Given the description of an element on the screen output the (x, y) to click on. 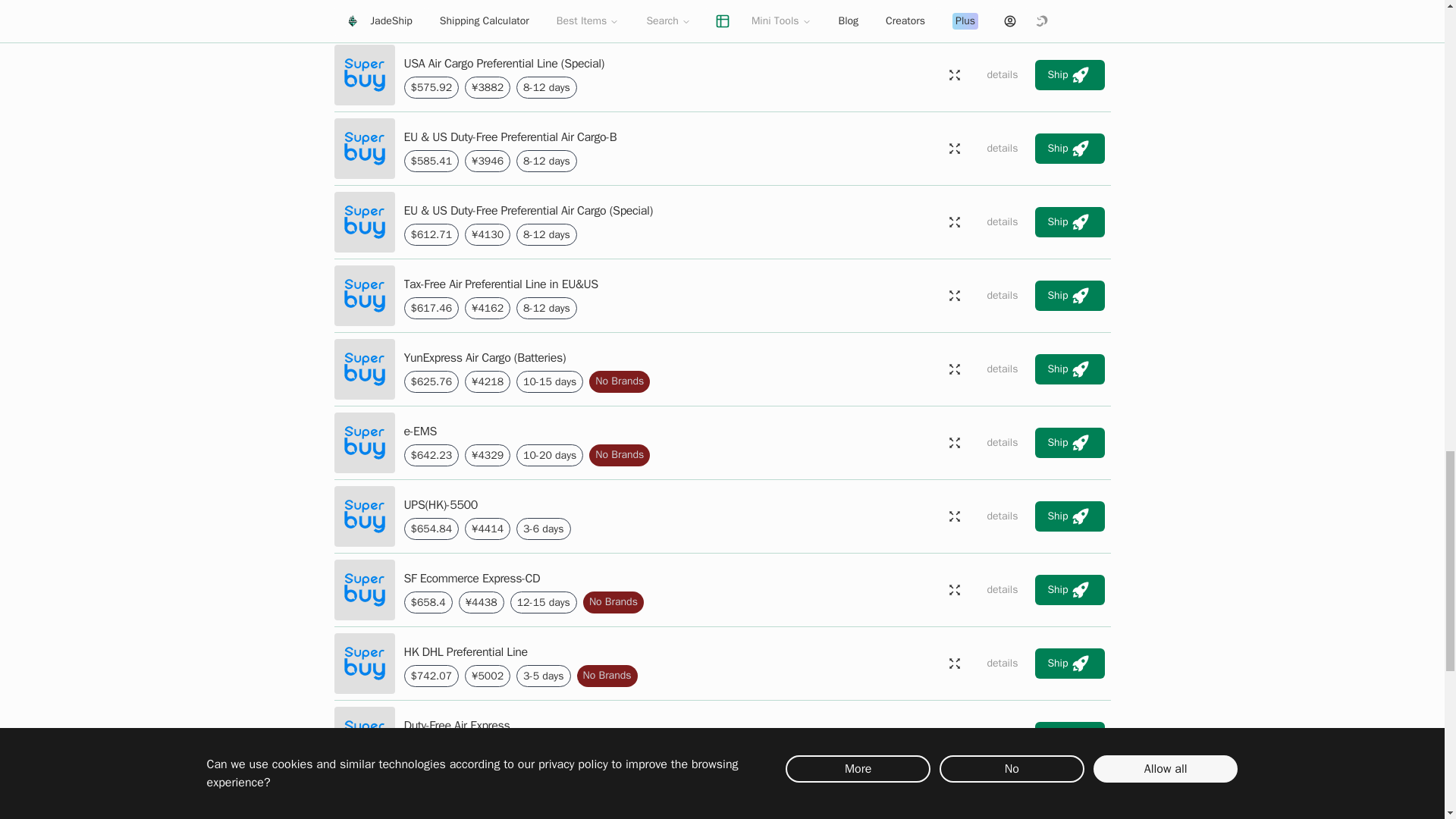
fullscreen details (954, 368)
fullscreen details (954, 222)
fullscreen details (954, 442)
fullscreen details (954, 8)
fullscreen details (954, 516)
fullscreen details (954, 295)
fullscreen details (954, 74)
fullscreen details (954, 148)
